Given the description of an element on the screen output the (x, y) to click on. 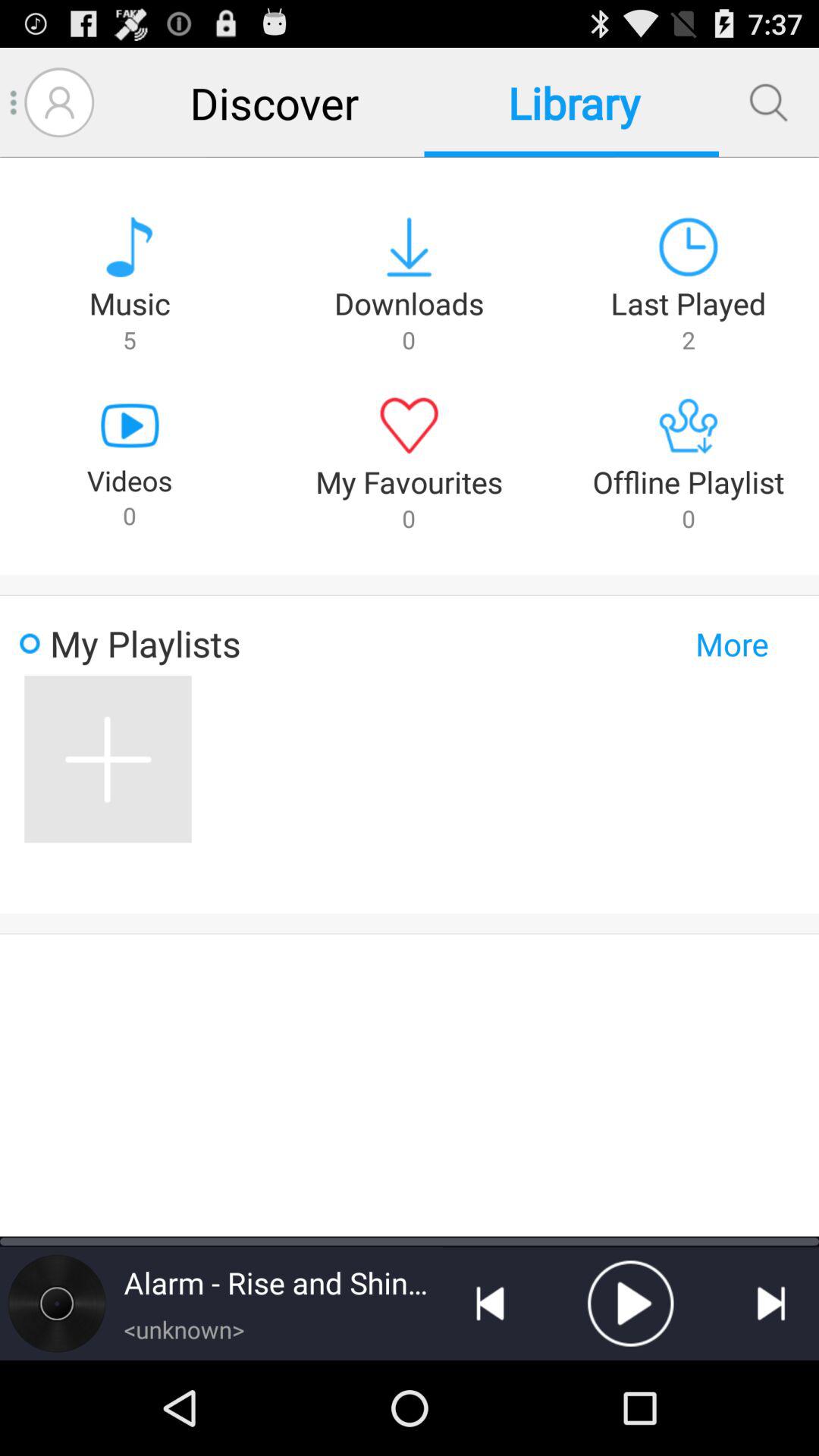
search function (768, 102)
